Given the description of an element on the screen output the (x, y) to click on. 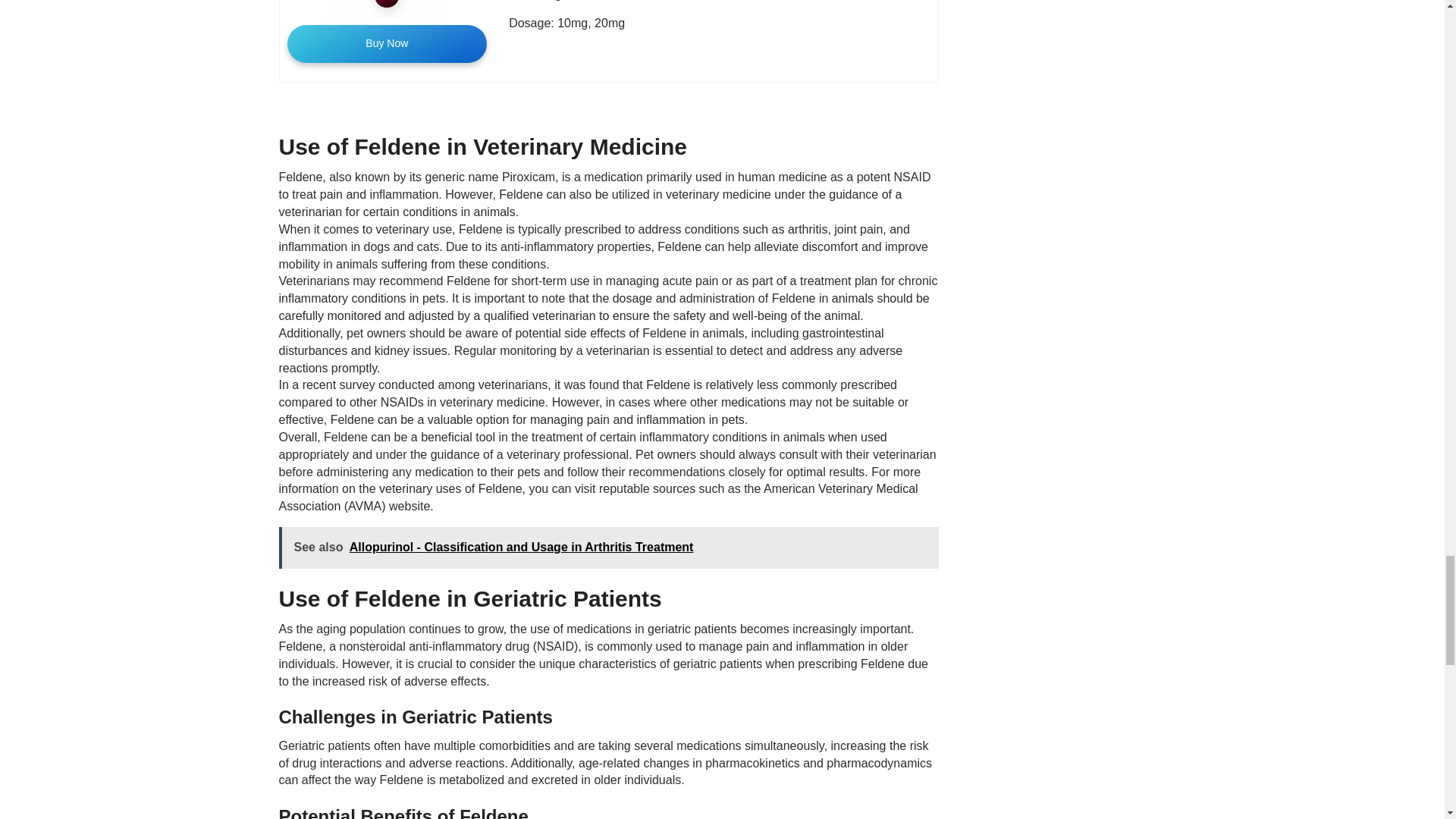
Buy Now (386, 44)
Buy Now (386, 44)
